Given the description of an element on the screen output the (x, y) to click on. 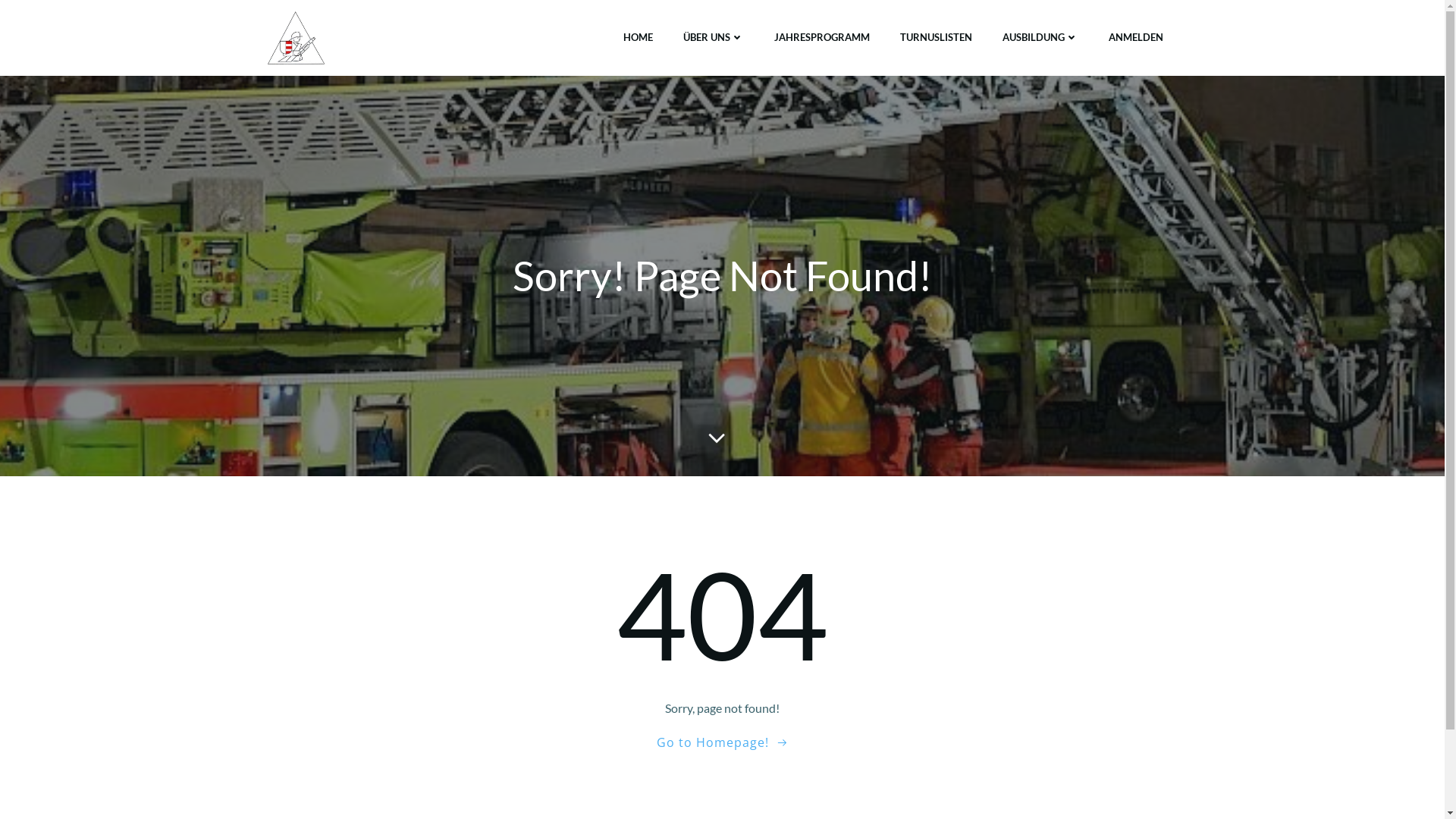
AUSBILDUNG Element type: text (1040, 37)
JAHRESPROGRAMM Element type: text (821, 37)
TURNUSLISTEN Element type: text (935, 37)
ANMELDEN Element type: text (1135, 37)
Go to Homepage! Element type: text (722, 741)
HOME Element type: text (637, 37)
